Given the description of an element on the screen output the (x, y) to click on. 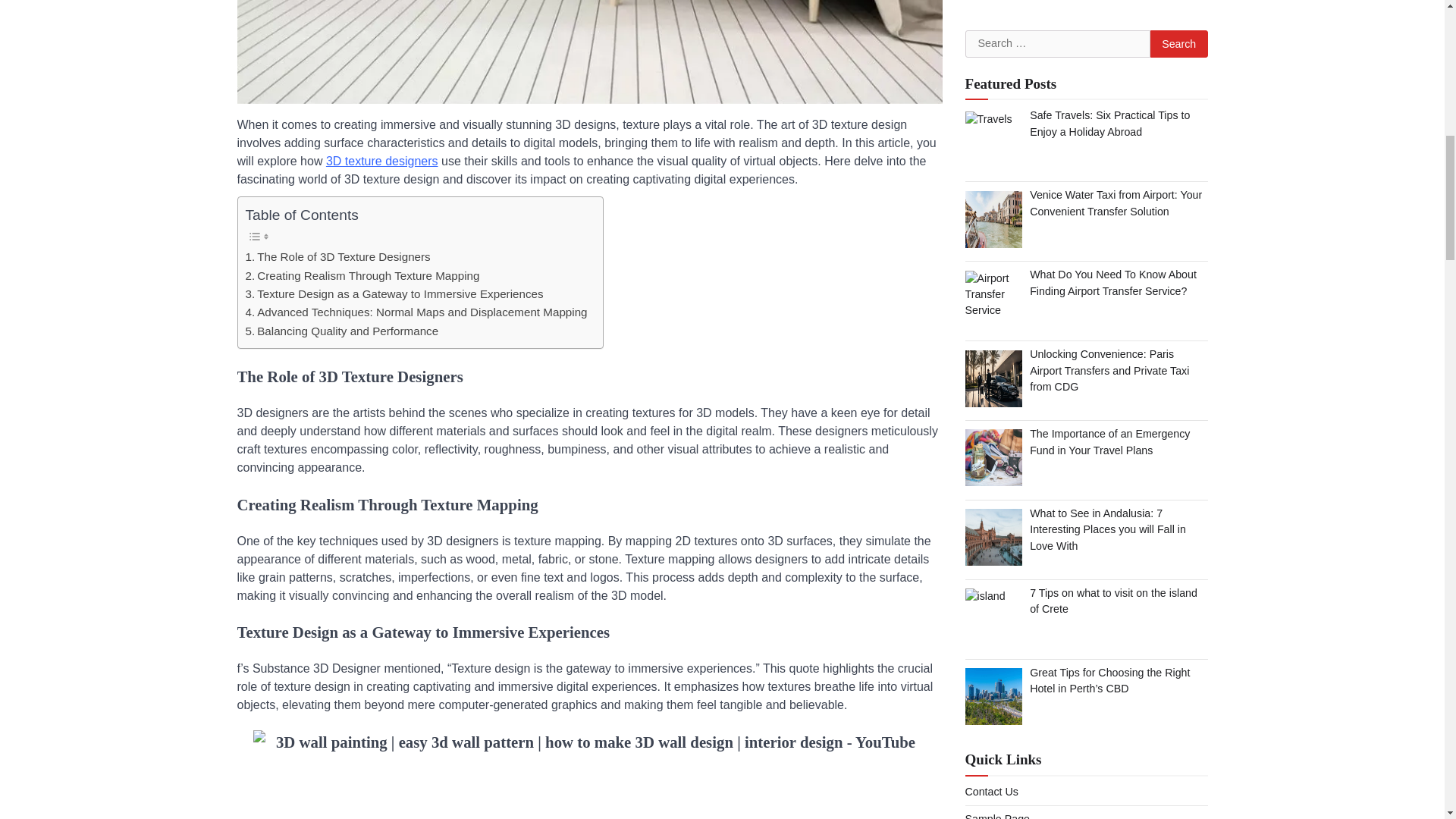
Texture Design as a Gateway to Immersive Experiences (394, 294)
3D texture designers (382, 160)
Creating Realism Through Texture Mapping (363, 275)
Balancing Quality and Performance (342, 331)
The Role of 3D Texture Designers (338, 257)
Texture Design as a Gateway to Immersive Experiences (394, 294)
The Role of 3D Texture Designers (338, 257)
Balancing Quality and Performance (342, 331)
Advanced Techniques: Normal Maps and Displacement Mapping (417, 312)
